Given the description of an element on the screen output the (x, y) to click on. 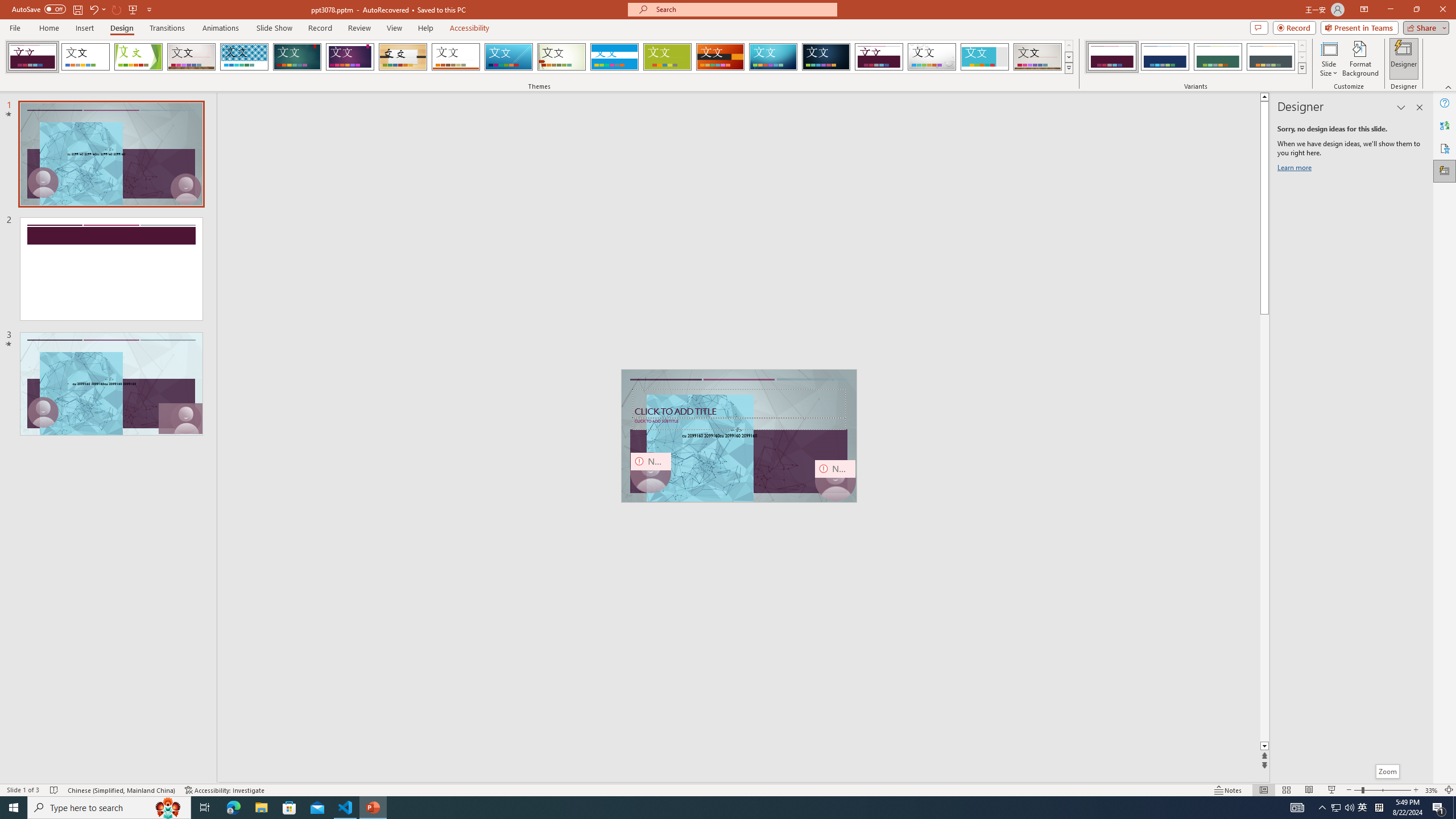
Banded (614, 56)
Format Background (1360, 58)
Ion (296, 56)
Droplet (931, 56)
Dividend Variant 2 (1164, 56)
